Given the description of an element on the screen output the (x, y) to click on. 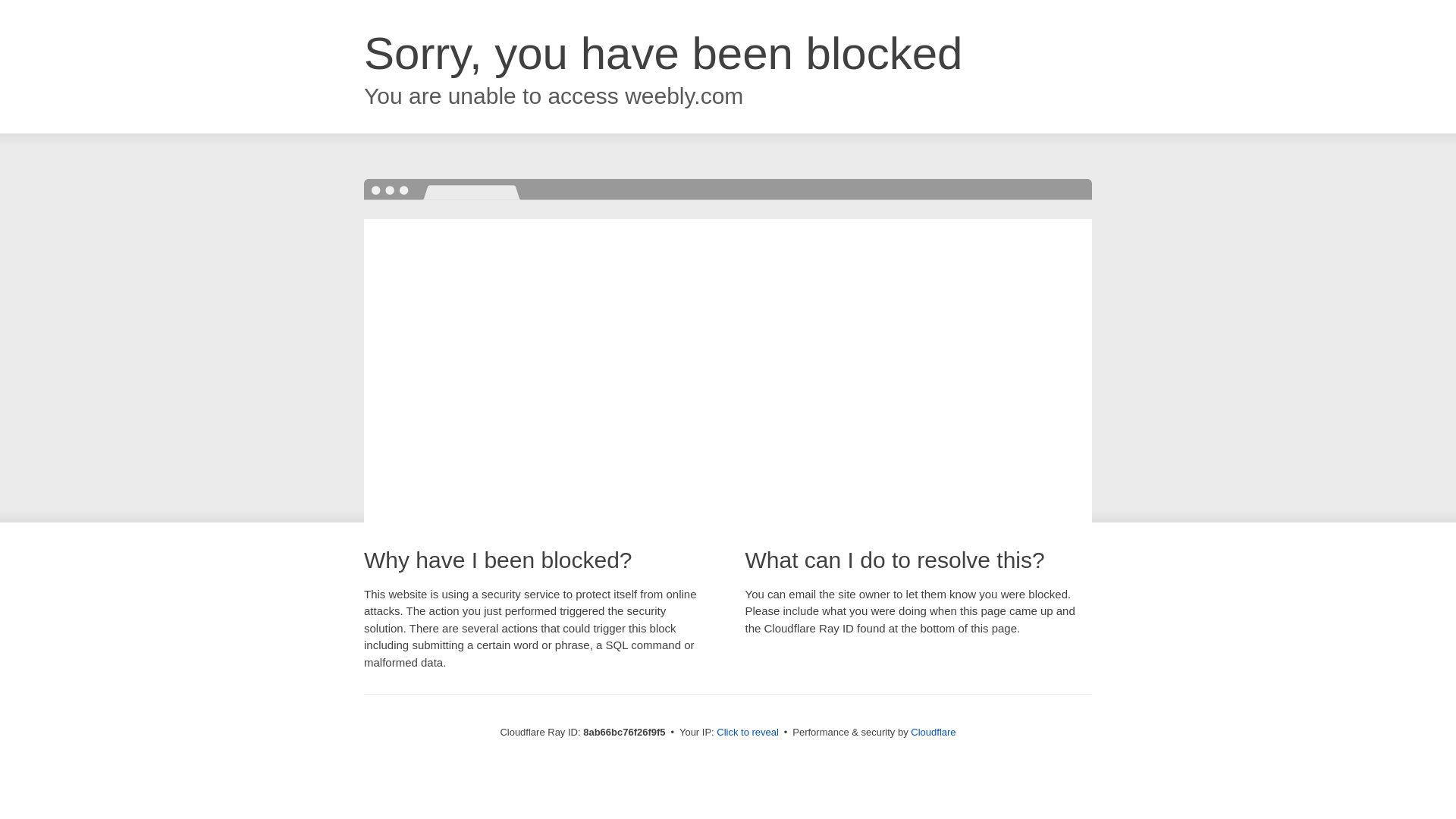
Cloudflare (933, 731)
Click to reveal (747, 732)
